Given the description of an element on the screen output the (x, y) to click on. 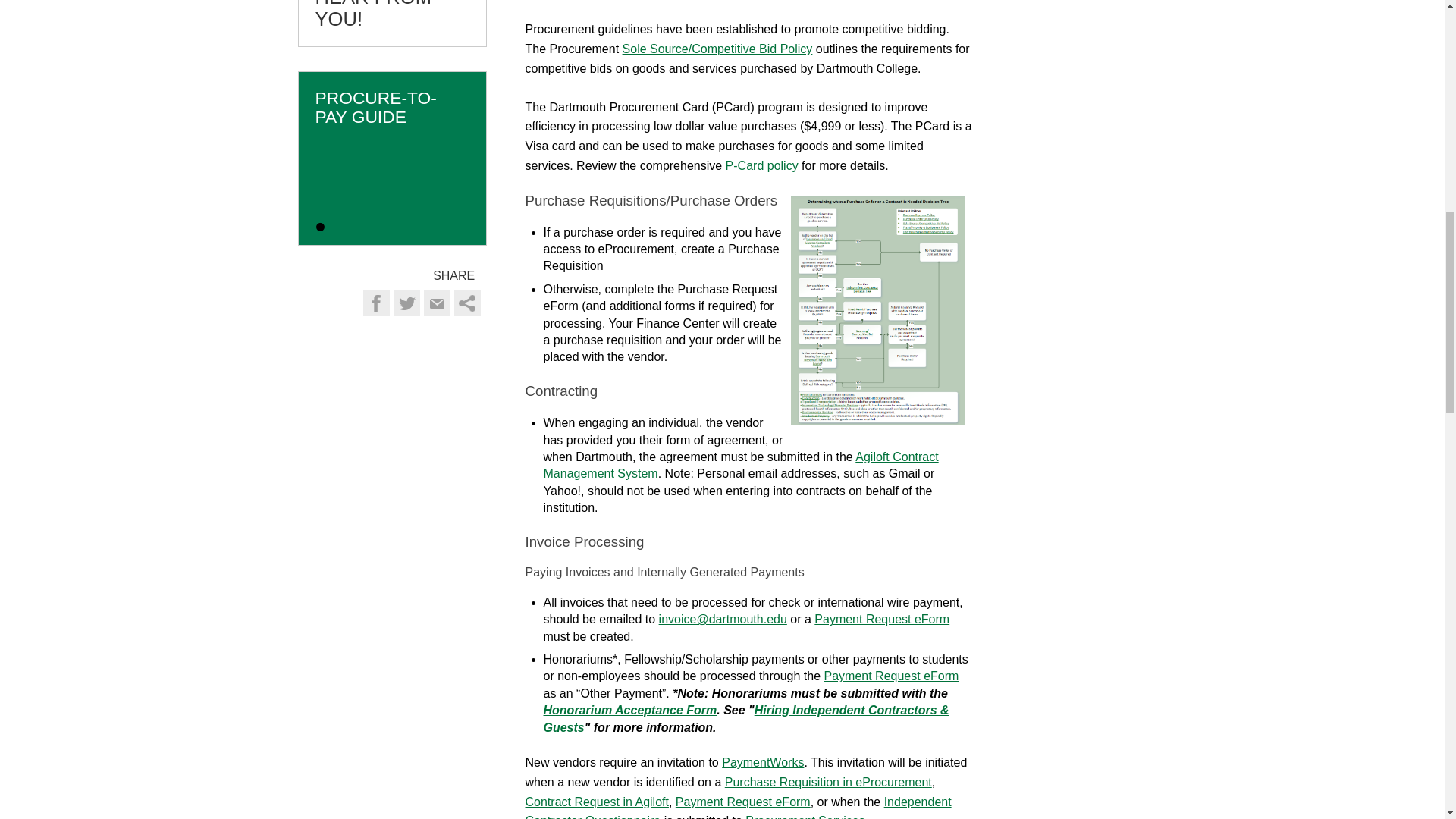
Honorarium Acceptance Form (629, 709)
Payment Request eForm (742, 801)
Payment Request eForm (891, 675)
Purchase Requisition in eProcurement (828, 781)
We want to hear from you! (392, 22)
Payment Request eForm (881, 618)
Independent Contractor Questionnaire (737, 807)
P-Card policy (761, 164)
Agiloft Contract Management System (740, 464)
Contract Request in Agiloft (596, 801)
PaymentWorks (762, 762)
